Given the description of an element on the screen output the (x, y) to click on. 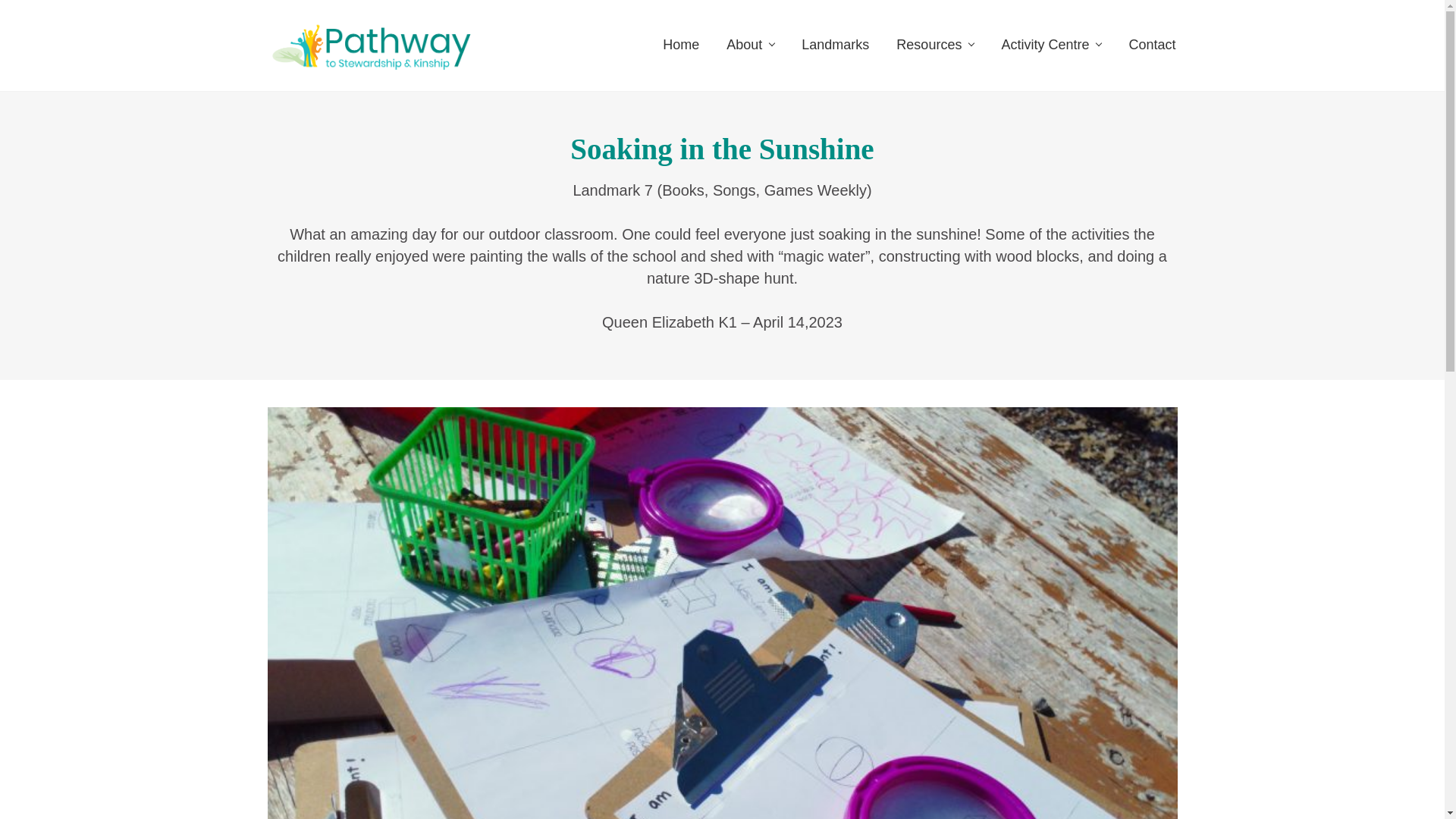
Home (680, 44)
Resources (934, 44)
About (750, 44)
Activity Centre (1050, 44)
Landmarks (834, 44)
